Given the description of an element on the screen output the (x, y) to click on. 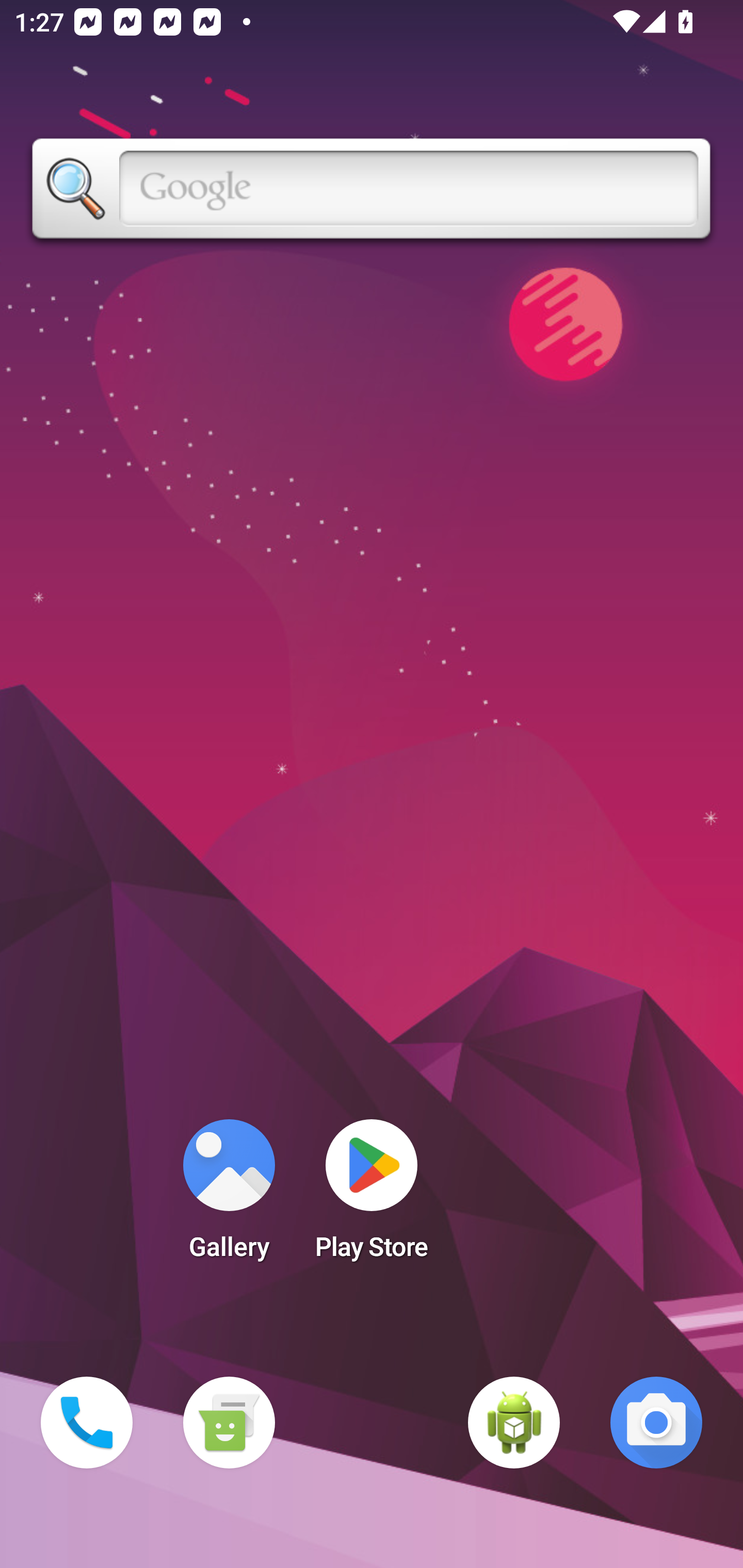
Gallery (228, 1195)
Play Store (371, 1195)
Phone (86, 1422)
Messaging (228, 1422)
WebView Browser Tester (513, 1422)
Camera (656, 1422)
